Given the description of an element on the screen output the (x, y) to click on. 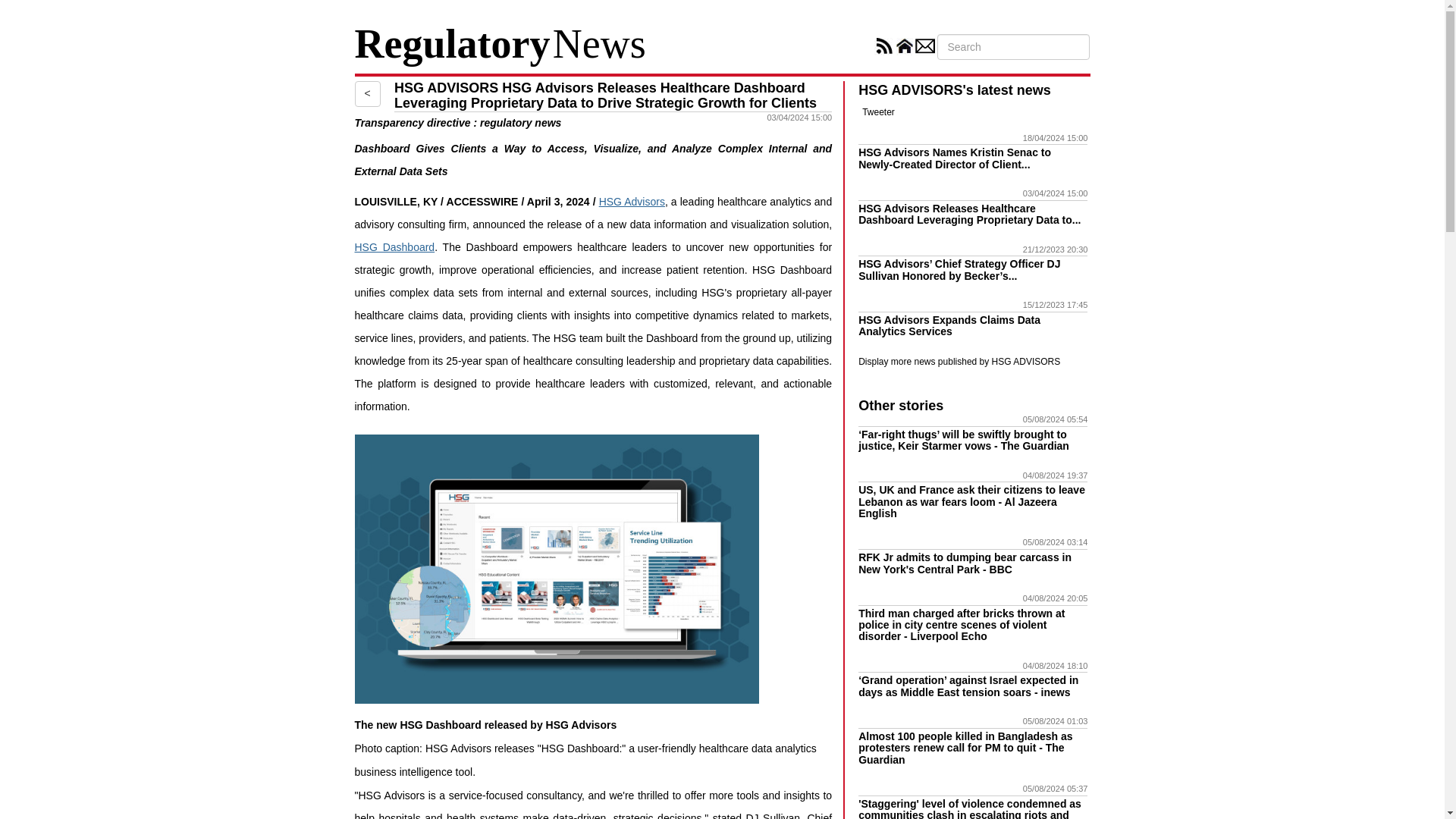
HSG Dashboard (395, 246)
HSG Advisors Expands Claims Data Analytics Services (950, 325)
Regulatory News (500, 54)
Display more news published by HSG ADVISORS (959, 361)
HSG Advisors (631, 201)
Tweeter (878, 112)
